Given the description of an element on the screen output the (x, y) to click on. 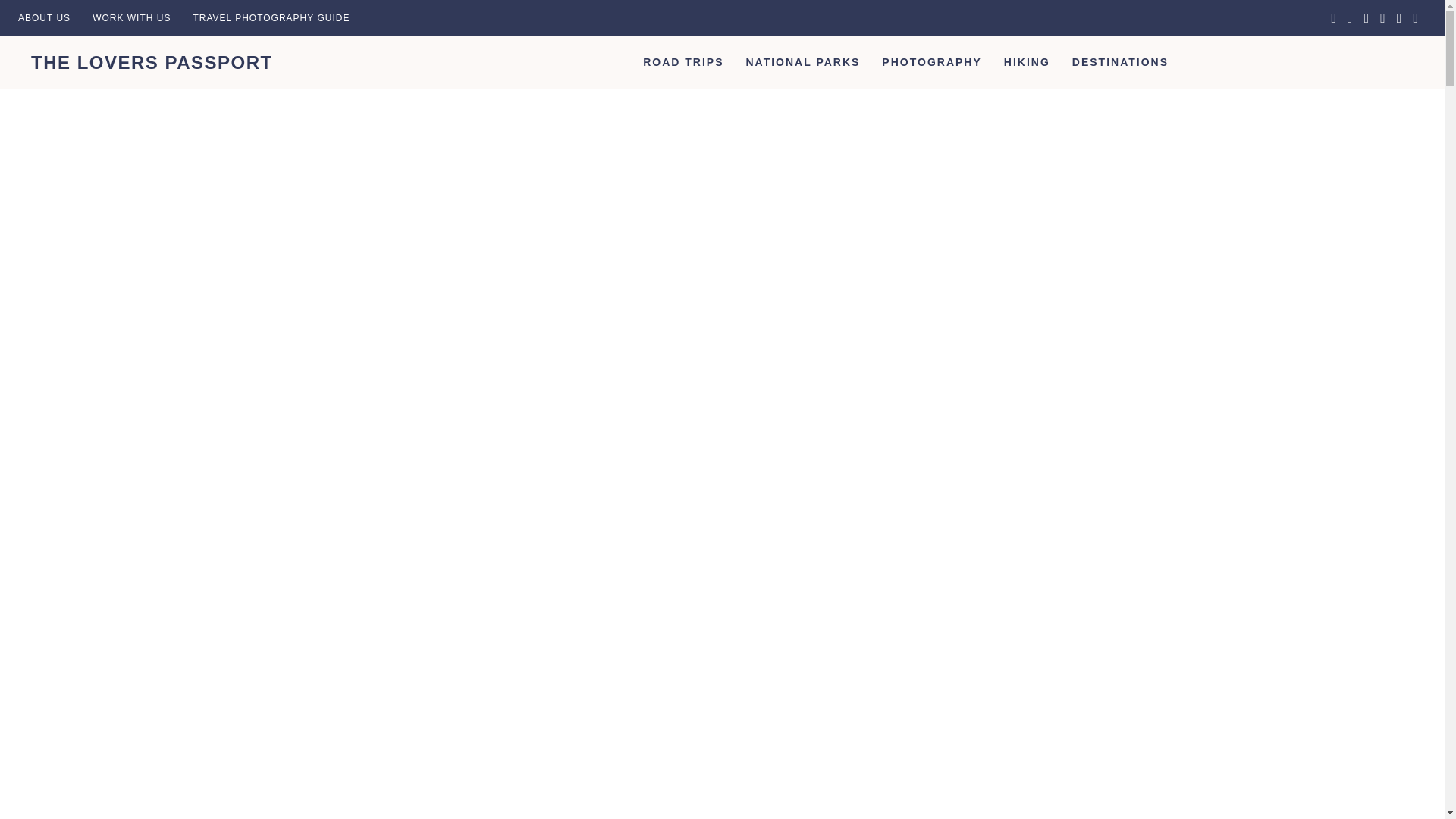
THE LOVERS PASSPORT (151, 62)
ABOUT US (44, 18)
NATIONAL PARKS (802, 62)
ROAD TRIPS (682, 62)
HIKING (1026, 62)
TRAVEL PHOTOGRAPHY GUIDE (270, 18)
PHOTOGRAPHY (930, 62)
WORK WITH US (130, 18)
The Lovers Passport (151, 62)
DESTINATIONS (1120, 62)
